Given the description of an element on the screen output the (x, y) to click on. 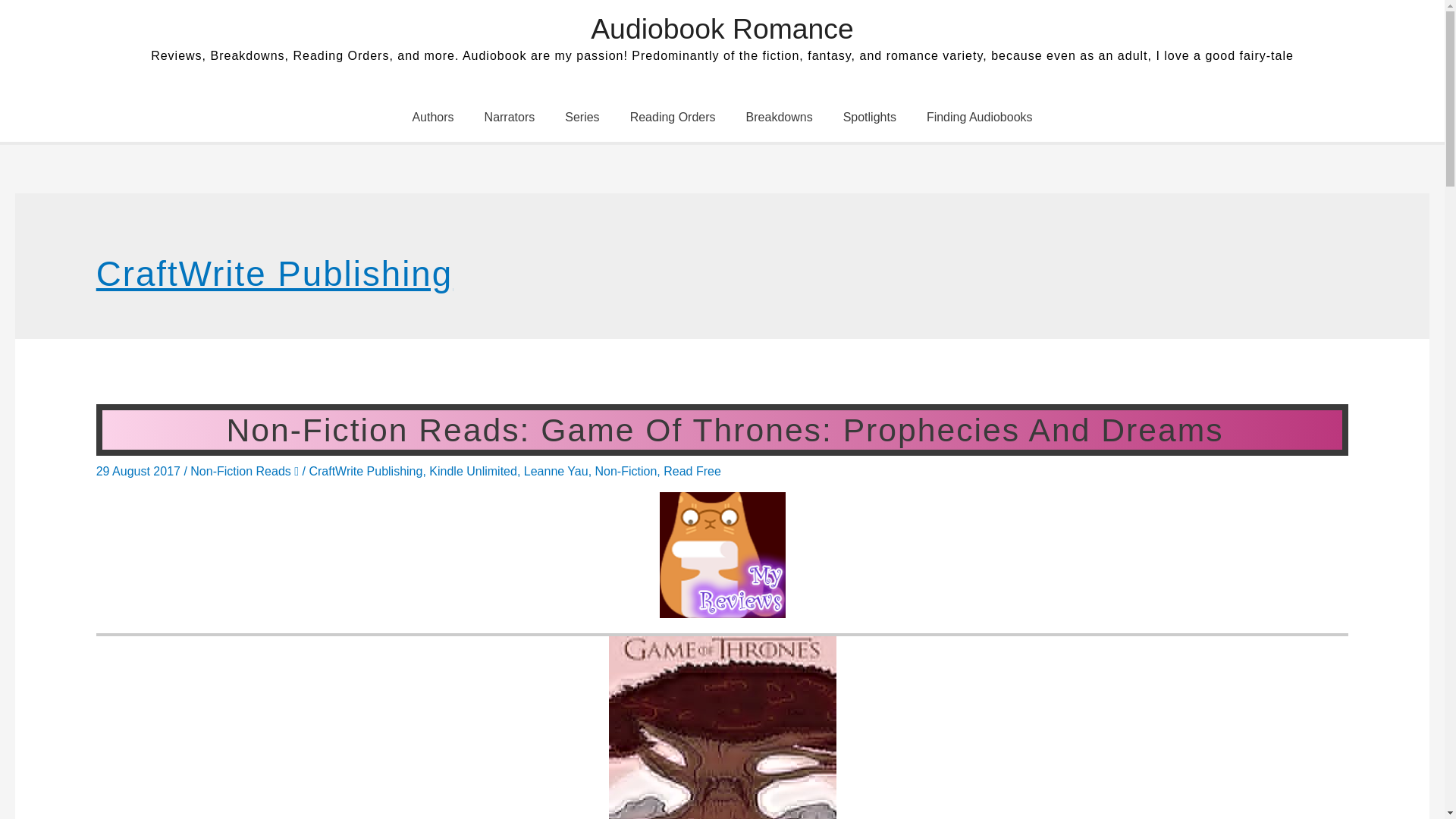
Audiobook Romance (722, 29)
Non-Fiction (626, 471)
Series (582, 117)
Read Free (691, 471)
Reading Orders (672, 117)
Kindle Unlimited (472, 471)
Breakdowns (779, 117)
Leanne Yau (556, 471)
Non-Fiction Reads: Game Of Thrones: Prophecies And Dreams (722, 429)
Authors (432, 117)
Narrators (509, 117)
Spotlights (869, 117)
Finding Audiobooks (979, 117)
CraftWrite Publishing (365, 471)
